Given the description of an element on the screen output the (x, y) to click on. 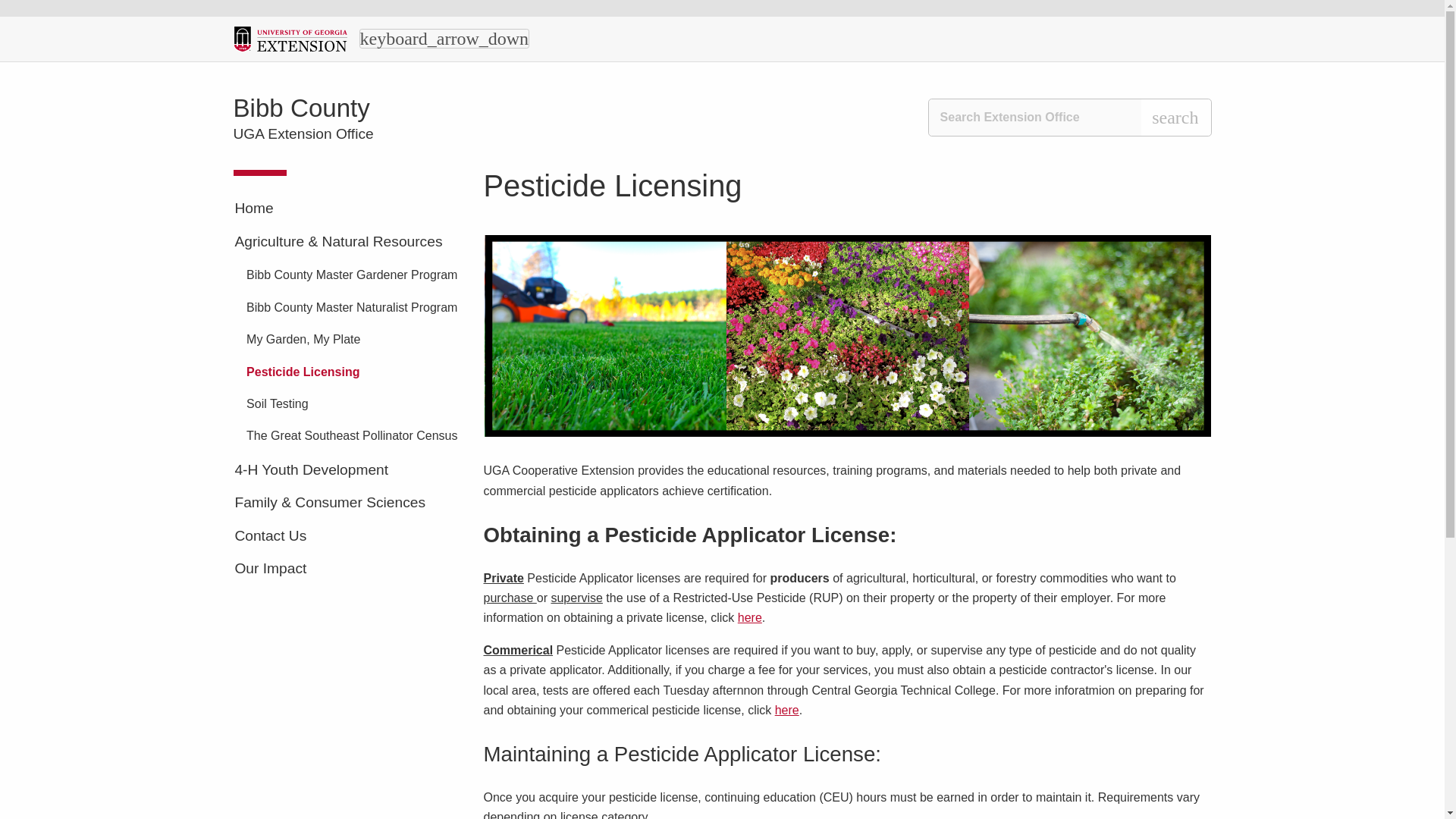
My Garden, My Plate (353, 339)
here (786, 709)
Bibb County Master Gardener Program (353, 275)
Pesticide Licensing (353, 371)
Soil Testing (353, 404)
here (749, 617)
search (1174, 117)
Our Impact (346, 568)
Contact Us (346, 535)
Bibb County Master Naturalist Program (353, 307)
Bibb County (300, 108)
4-H Youth Development (346, 469)
Home (346, 209)
The Great Southeast Pollinator Census (353, 435)
